Given the description of an element on the screen output the (x, y) to click on. 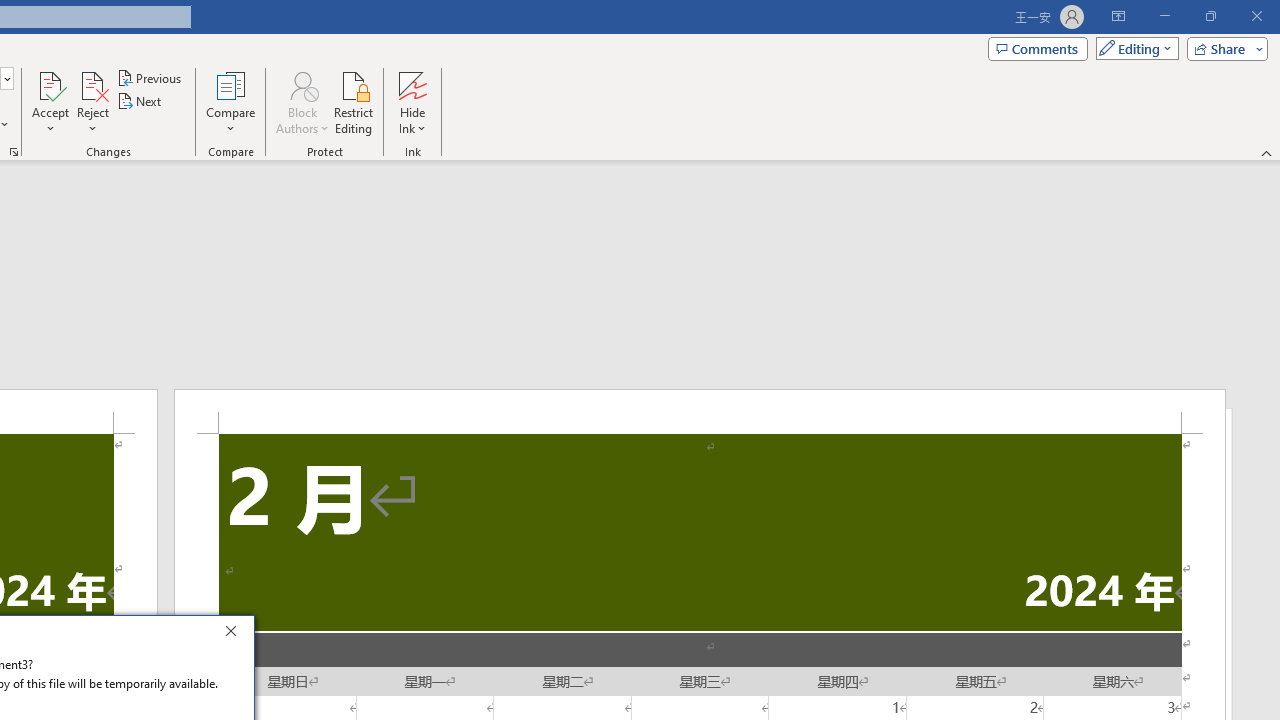
Restore Down (1210, 16)
Collapse the Ribbon (1267, 152)
Previous (150, 78)
Change Tracking Options... (13, 151)
Restrict Editing (353, 102)
Comments (1038, 48)
Ribbon Display Options (1118, 16)
Block Authors (302, 84)
Block Authors (302, 102)
Share (1223, 48)
Accept (50, 102)
